Given the description of an element on the screen output the (x, y) to click on. 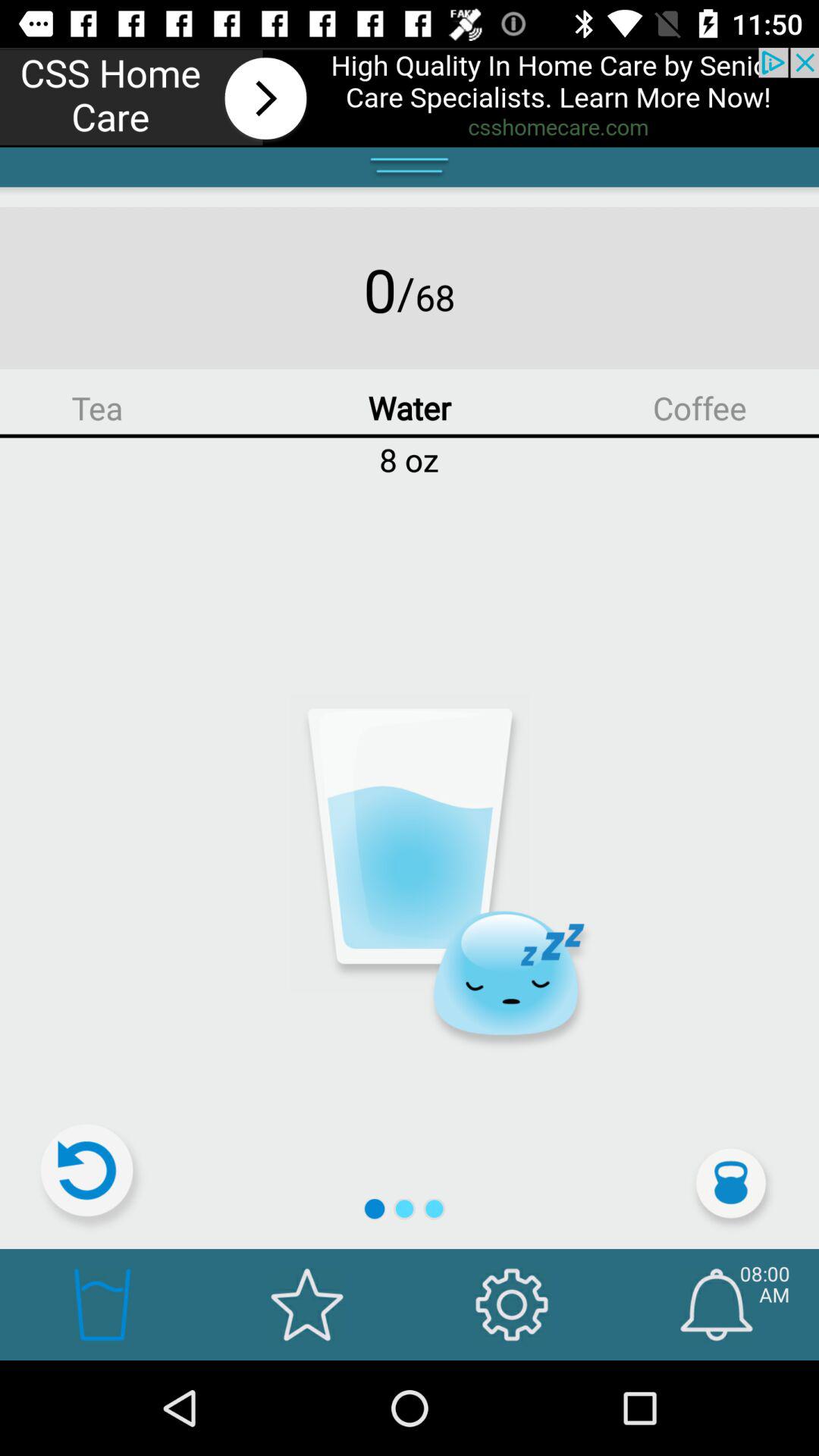
advertising (409, 97)
